Given the description of an element on the screen output the (x, y) to click on. 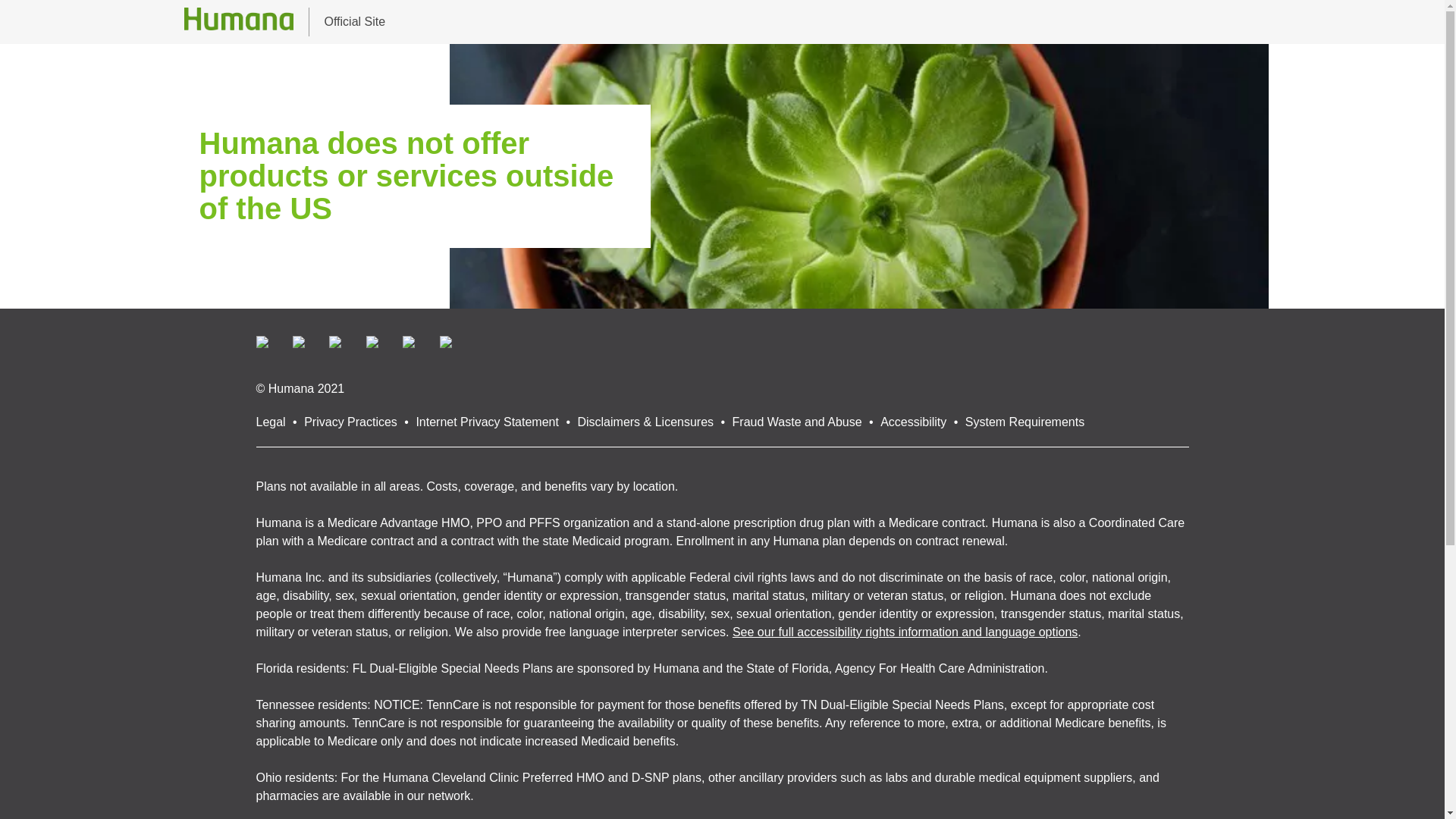
Privacy Practices (350, 421)
Fraud Waste and Abuse (796, 421)
Accessibility (913, 421)
System Requirements (1024, 421)
Internet Privacy Statement (486, 421)
Legal (270, 421)
